Given the description of an element on the screen output the (x, y) to click on. 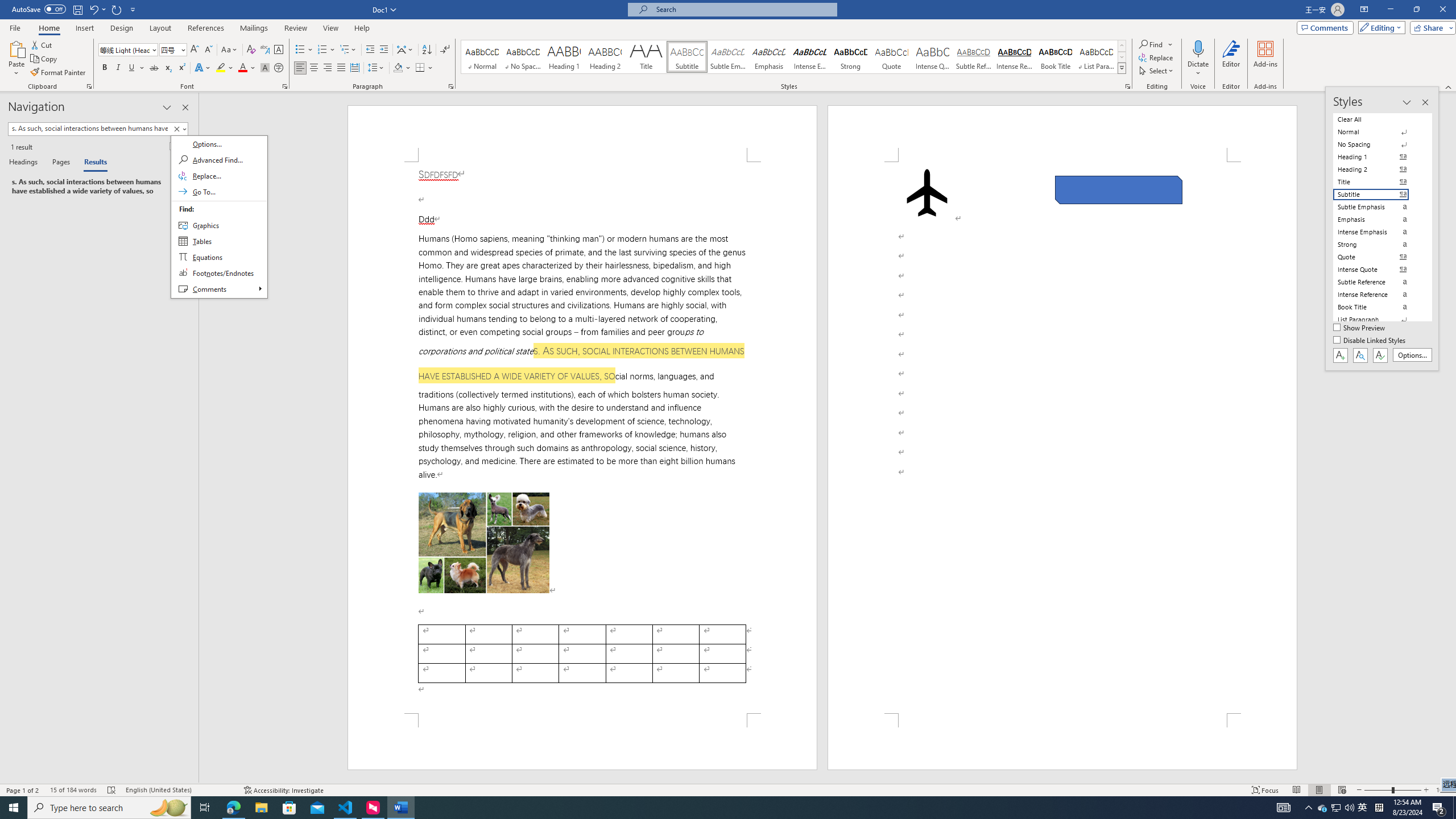
Text Highlight Color Yellow (220, 67)
Increase Indent (383, 49)
Notification Chevron (1308, 807)
Word - 1 running window (400, 807)
File Explorer (261, 807)
AutomationID: QuickStylesGallery (794, 56)
Undo Style (96, 9)
Change Case (229, 49)
No Spacing (1377, 144)
List Paragraph (1377, 319)
